Given the description of an element on the screen output the (x, y) to click on. 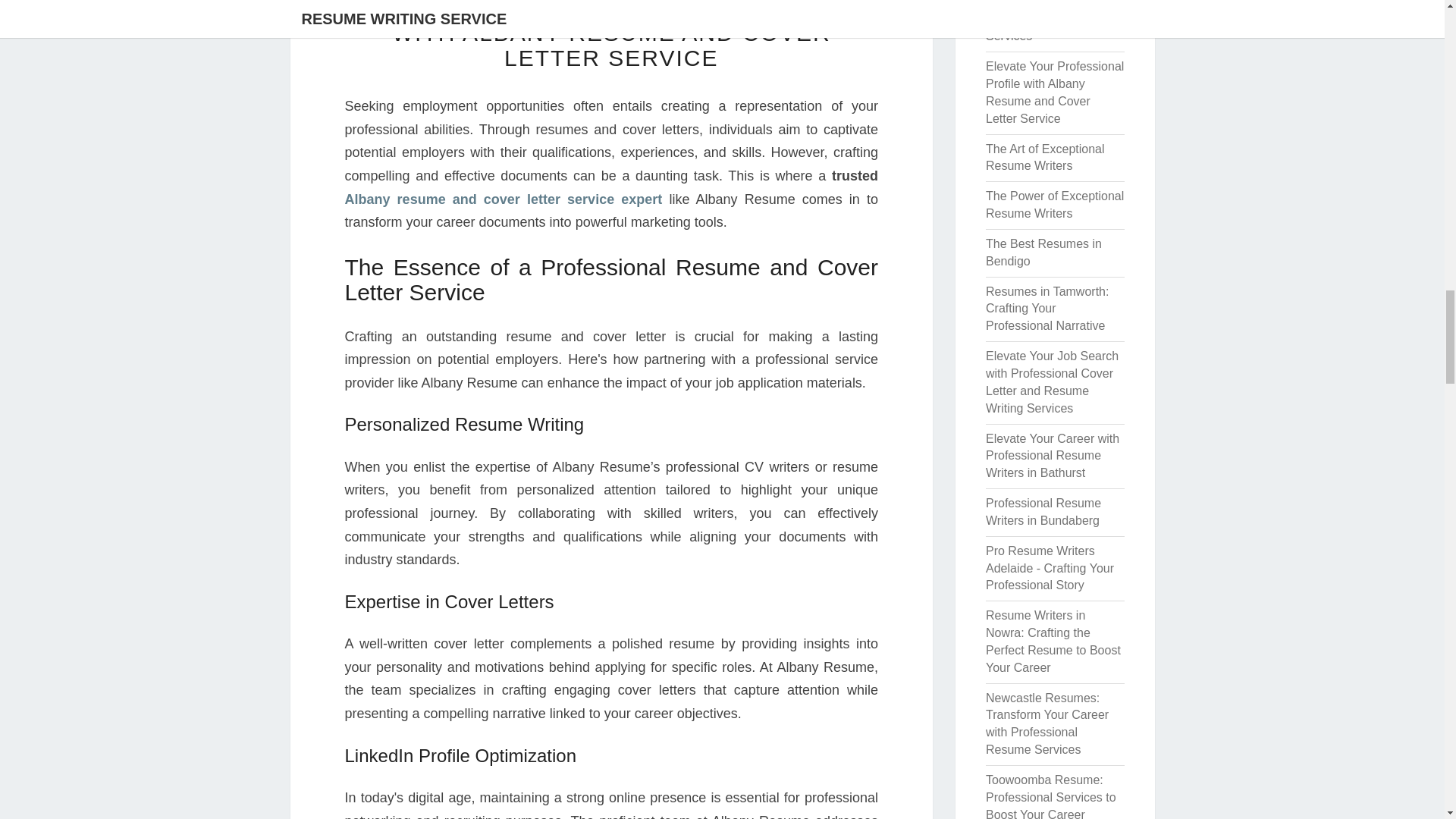
Albany resume and cover letter service expert (502, 199)
